Given the description of an element on the screen output the (x, y) to click on. 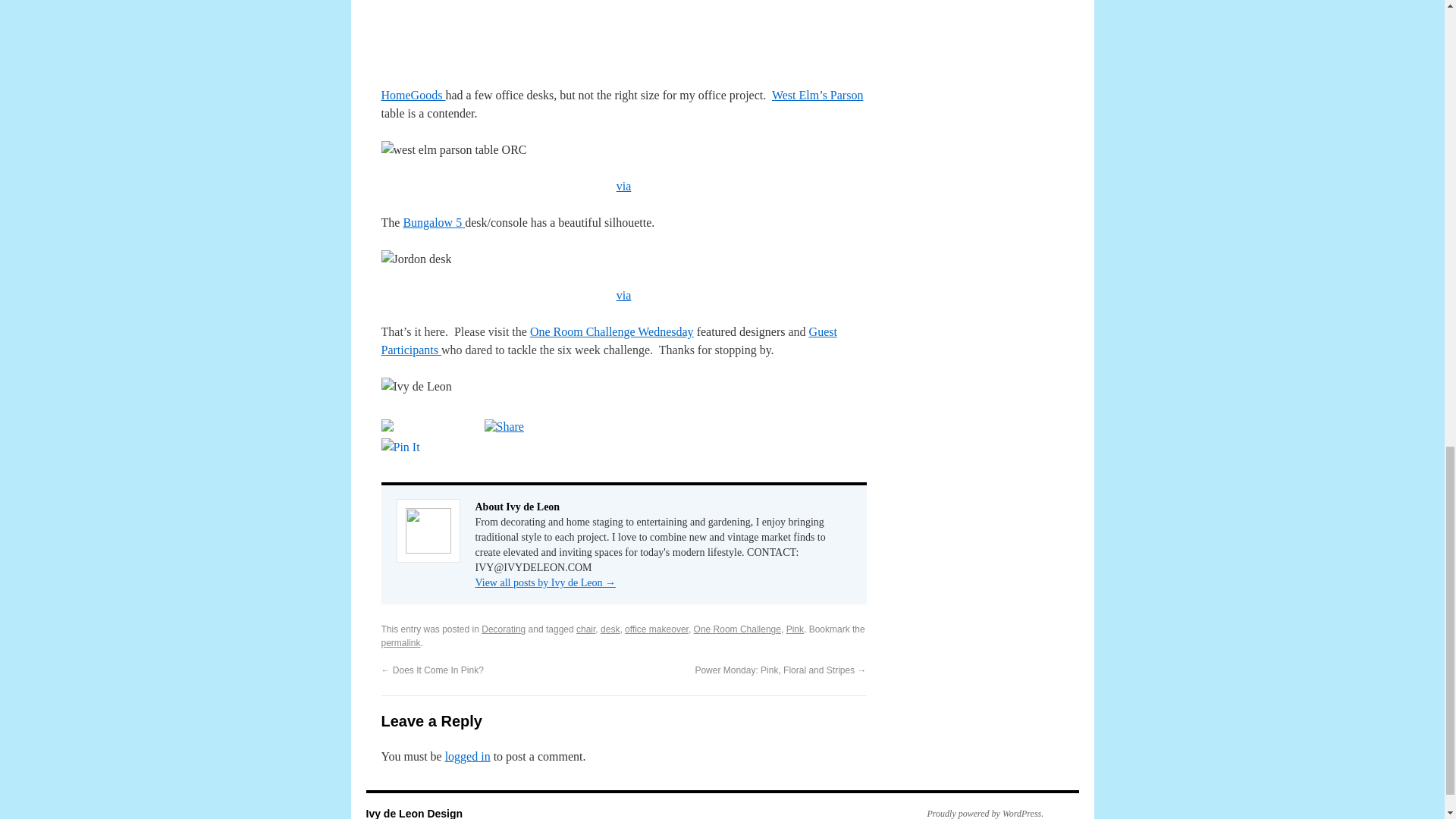
office makeover (656, 629)
permalink (400, 643)
chair (585, 629)
Bungalow 5 (433, 222)
Decorating (503, 629)
uest Participants (607, 340)
via (623, 185)
Pink (794, 629)
One Room Challenge  (583, 331)
Permalink to One Room Challenge Office Makeover Week 3 (400, 643)
